Given the description of an element on the screen output the (x, y) to click on. 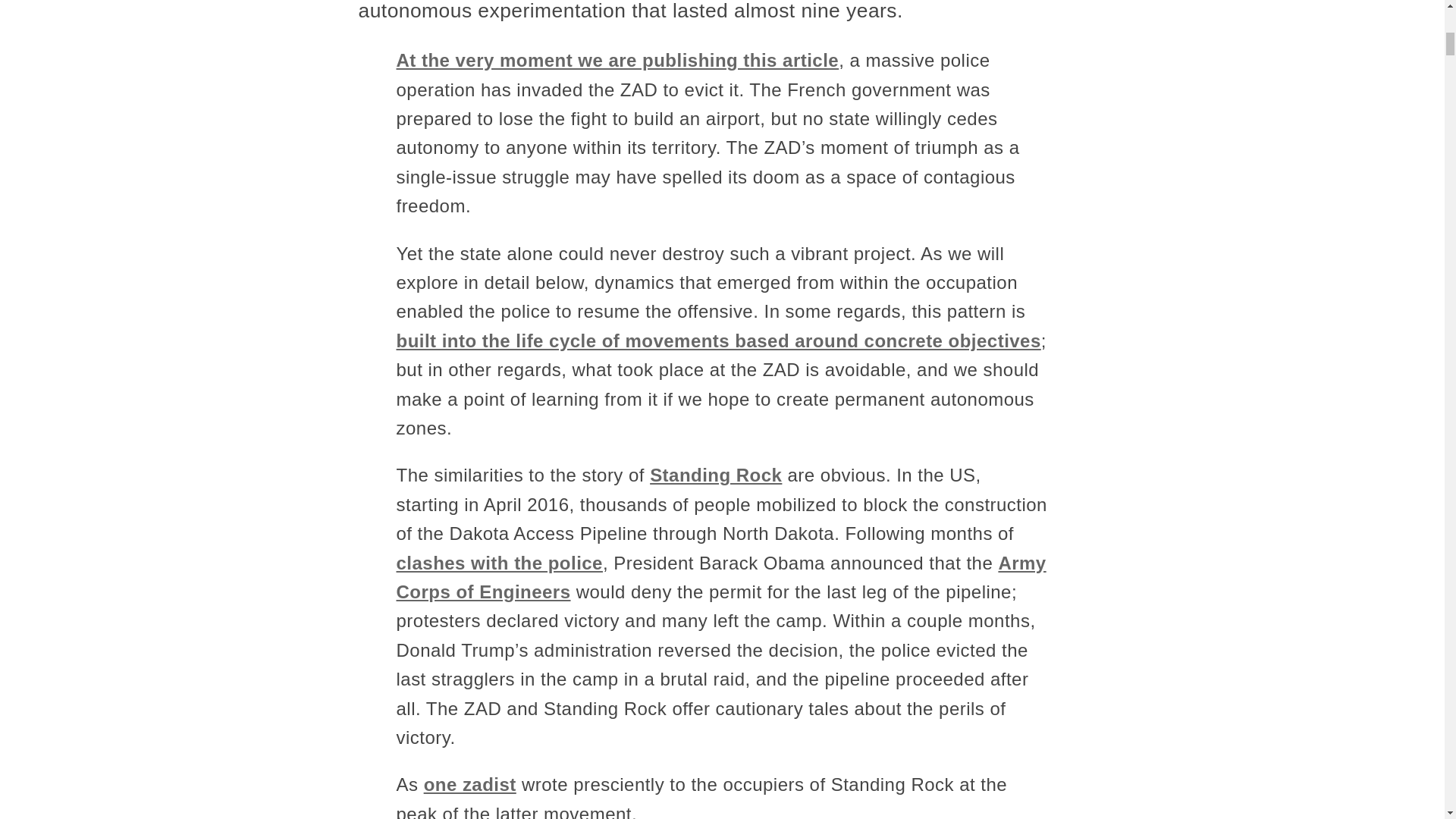
one zadist (469, 783)
At the very moment we are publishing this article (617, 59)
Army Corps of Engineers (720, 576)
clashes with the police (499, 562)
Standing Rock (715, 475)
